Given the description of an element on the screen output the (x, y) to click on. 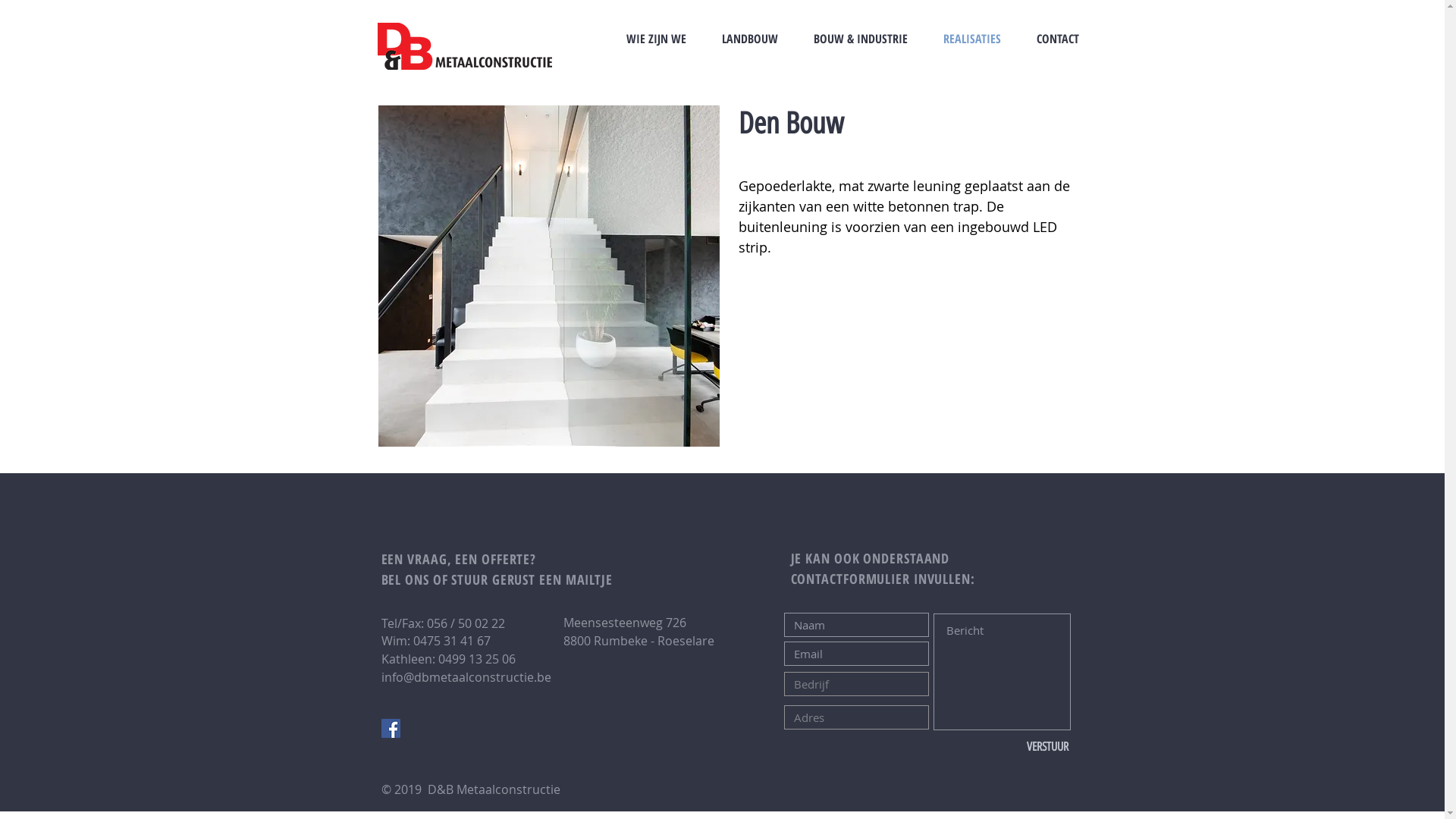
VERSTUUR Element type: text (1047, 746)
REALISATIES Element type: text (971, 38)
CONTACT Element type: text (1057, 38)
LANDBOUW Element type: text (749, 38)
info@dbmetaalconstructie.be Element type: text (465, 676)
BOUW & INDUSTRIE Element type: text (860, 38)
WIE ZIJN WE Element type: text (655, 38)
